Given the description of an element on the screen output the (x, y) to click on. 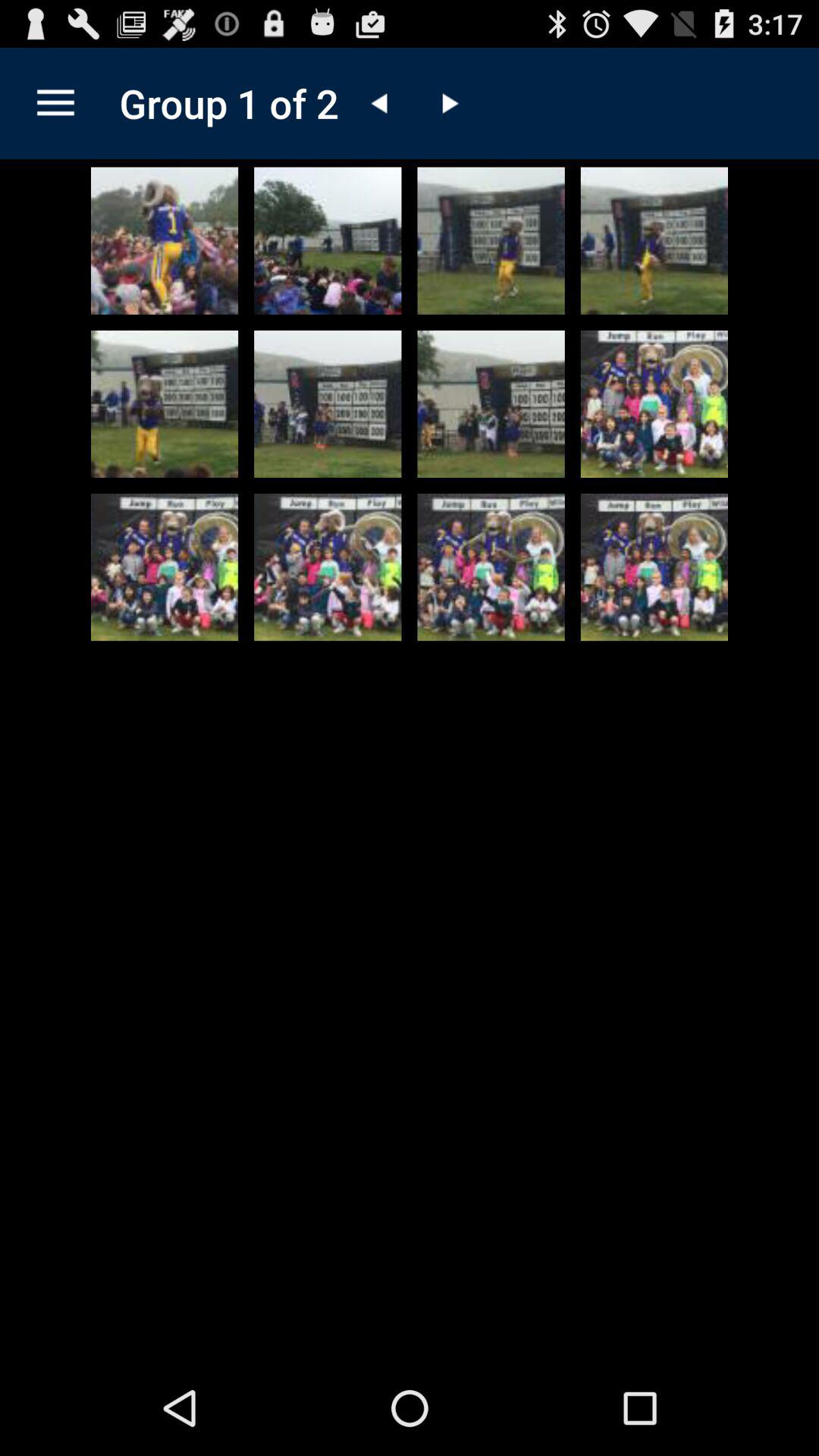
select photo (490, 403)
